Given the description of an element on the screen output the (x, y) to click on. 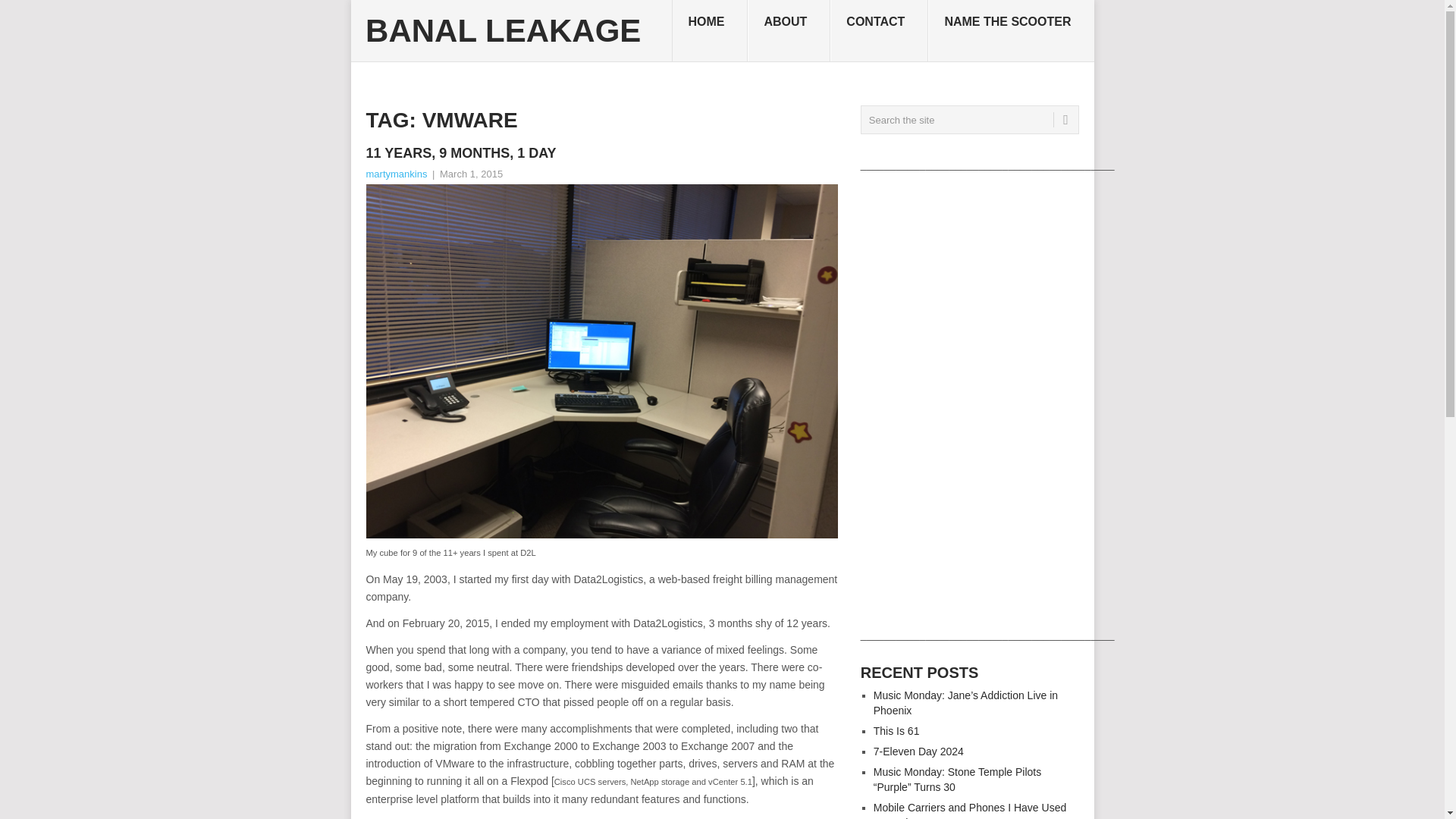
NAME THE SCOOTER (1010, 31)
7-Eleven Day 2024 (918, 751)
11 YEARS, 9 MONTHS, 1 DAY (601, 153)
HOME (709, 31)
11 Years, 9 Months, 1 Day (601, 153)
Mobile Carriers and Phones I Have Used Over The Years (969, 810)
This Is 61 (896, 730)
BANAL LEAKAGE (502, 30)
Posts by martymankins (395, 173)
martymankins (395, 173)
